Given the description of an element on the screen output the (x, y) to click on. 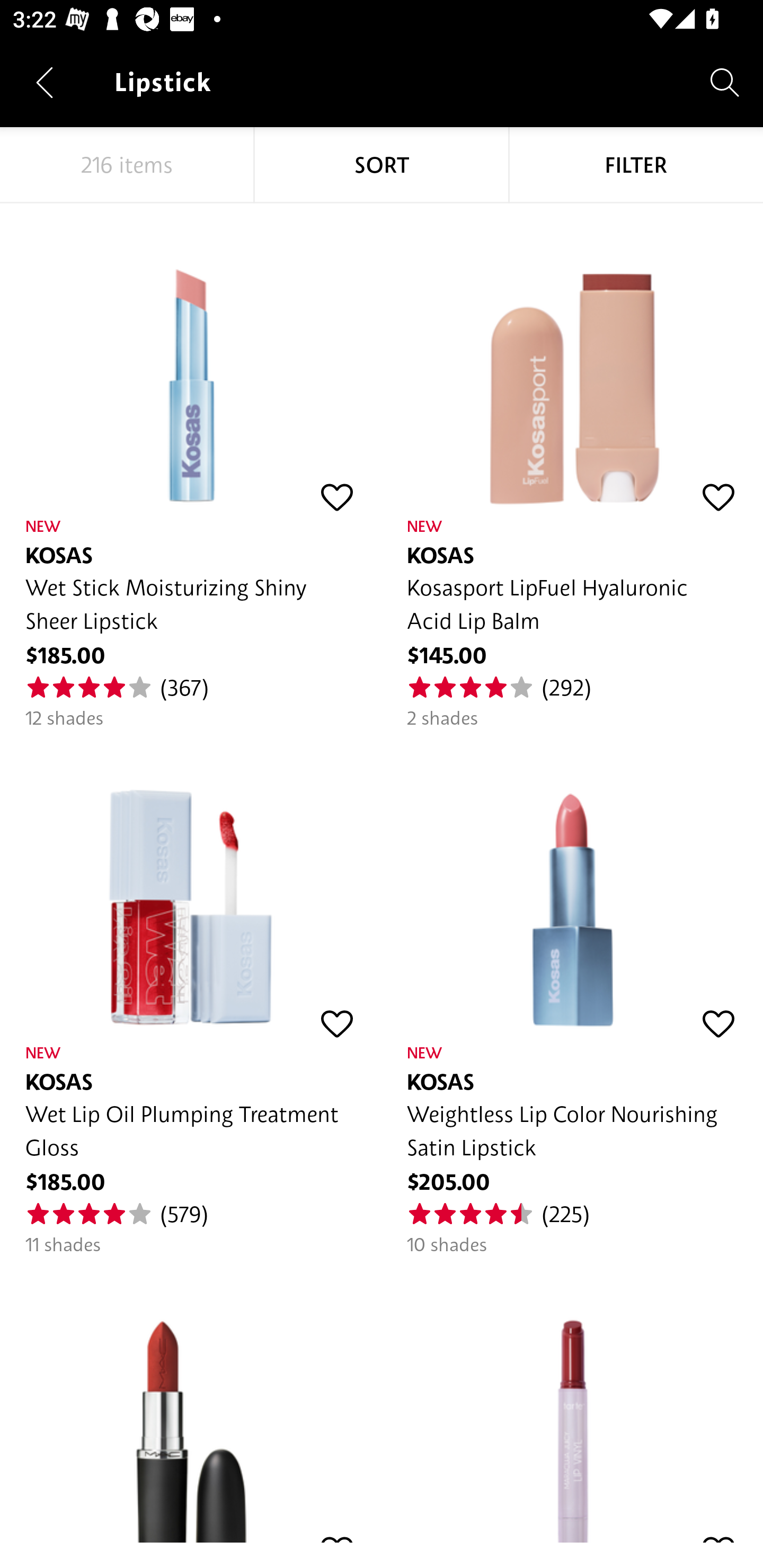
Navigate up (44, 82)
Search (724, 81)
SORT (381, 165)
FILTER (636, 165)
